Given the description of an element on the screen output the (x, y) to click on. 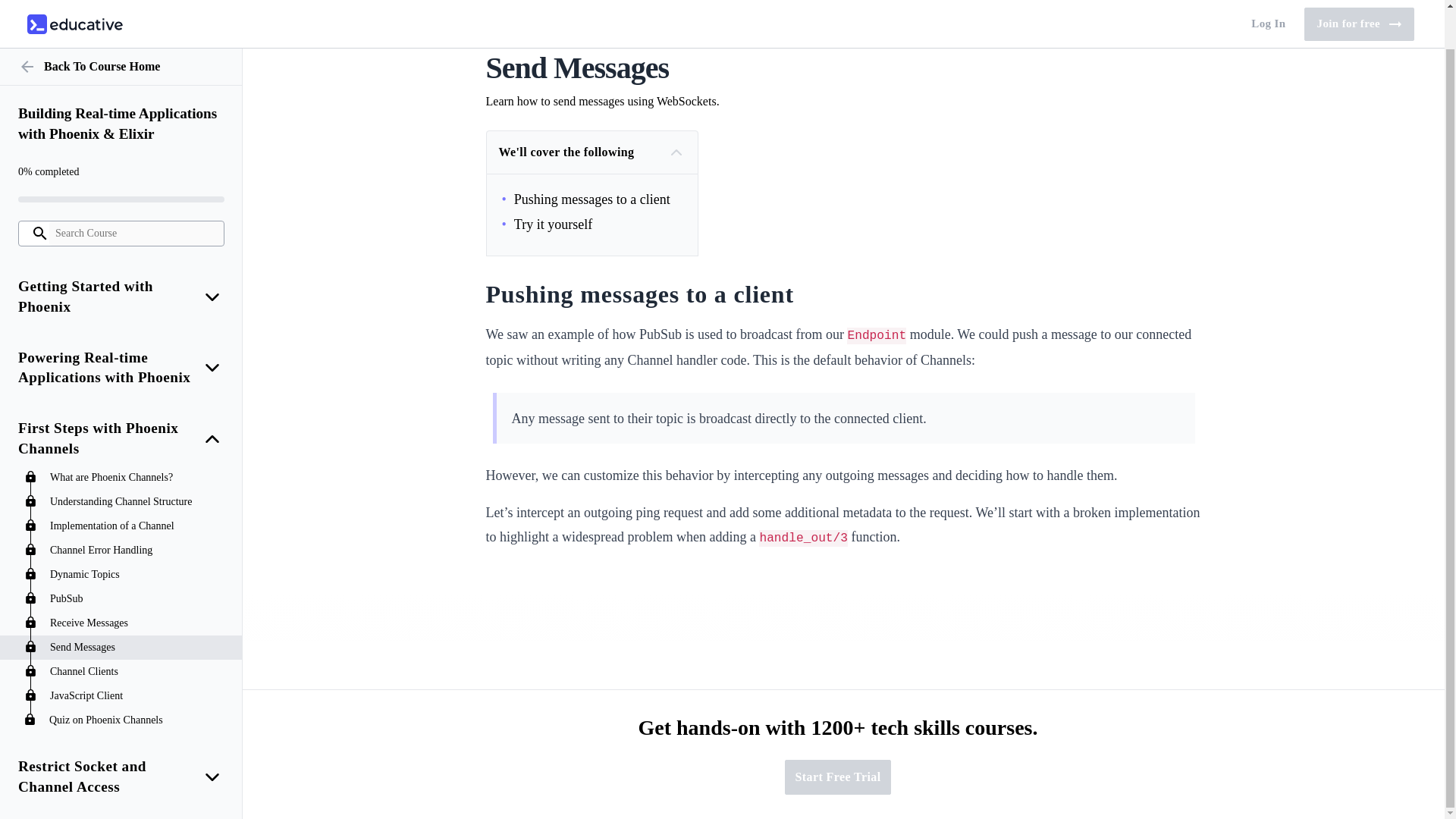
Quiz on Phoenix Channels (138, 679)
Log In (1268, 3)
Receive Messages (138, 581)
Channel Error Handling (138, 509)
Send Messages (138, 606)
Back To Course Home (121, 25)
JavaScript Client (138, 654)
What are Phoenix Channels? (138, 436)
Implementation of a Channel (138, 485)
Understanding Channel Structure (138, 460)
PubSub (138, 557)
Channel Clients (138, 630)
Dynamic Topics (138, 533)
